Given the description of an element on the screen output the (x, y) to click on. 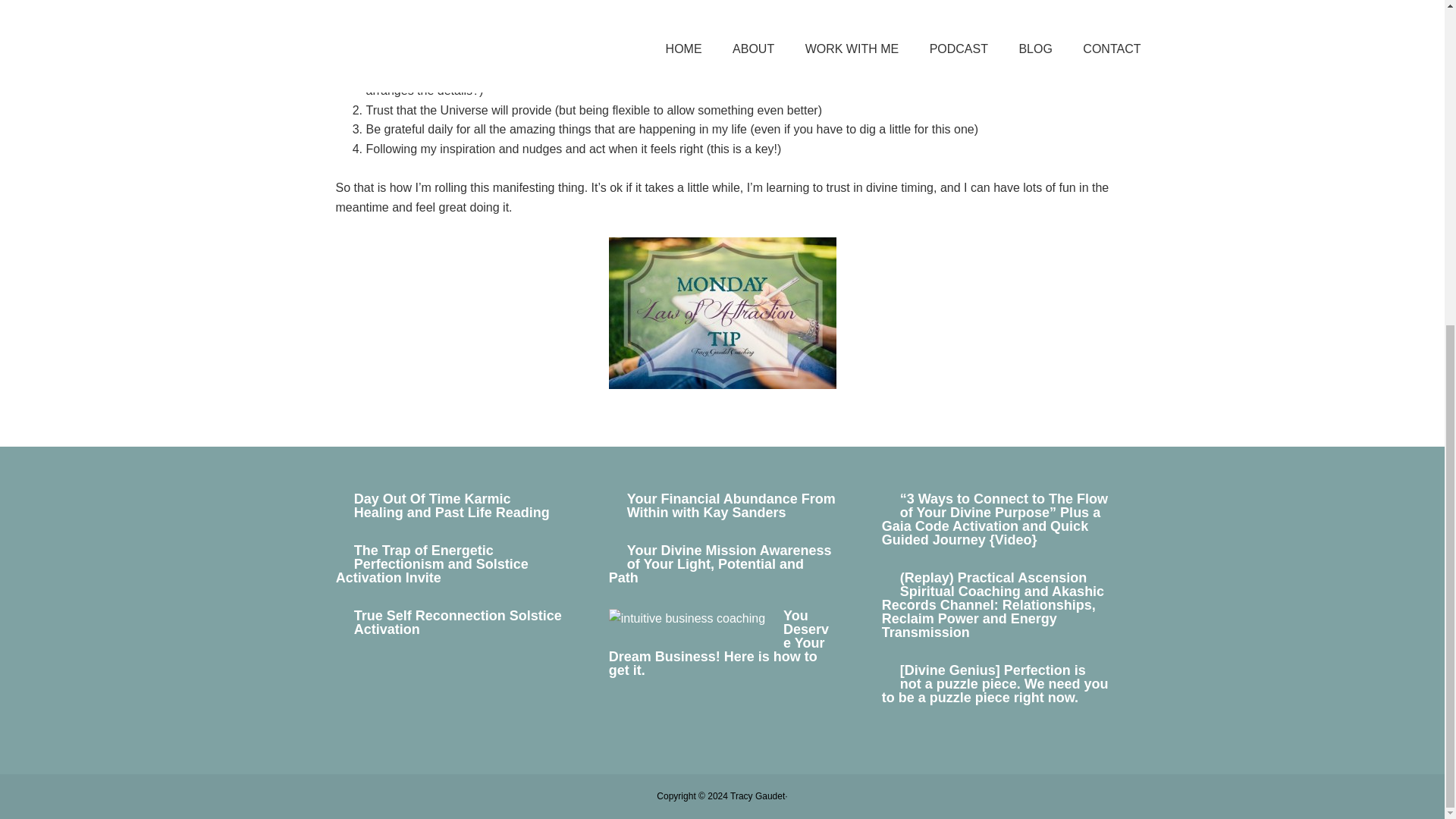
True Self Reconnection Solstice Activation (457, 622)
Your Financial Abundance From Within with Kay Sanders (731, 505)
Day Out Of Time Karmic Healing and Past Life Reading (451, 505)
You Deserve Your Dream Business! Here is how to get it. (718, 643)
